Given the description of an element on the screen output the (x, y) to click on. 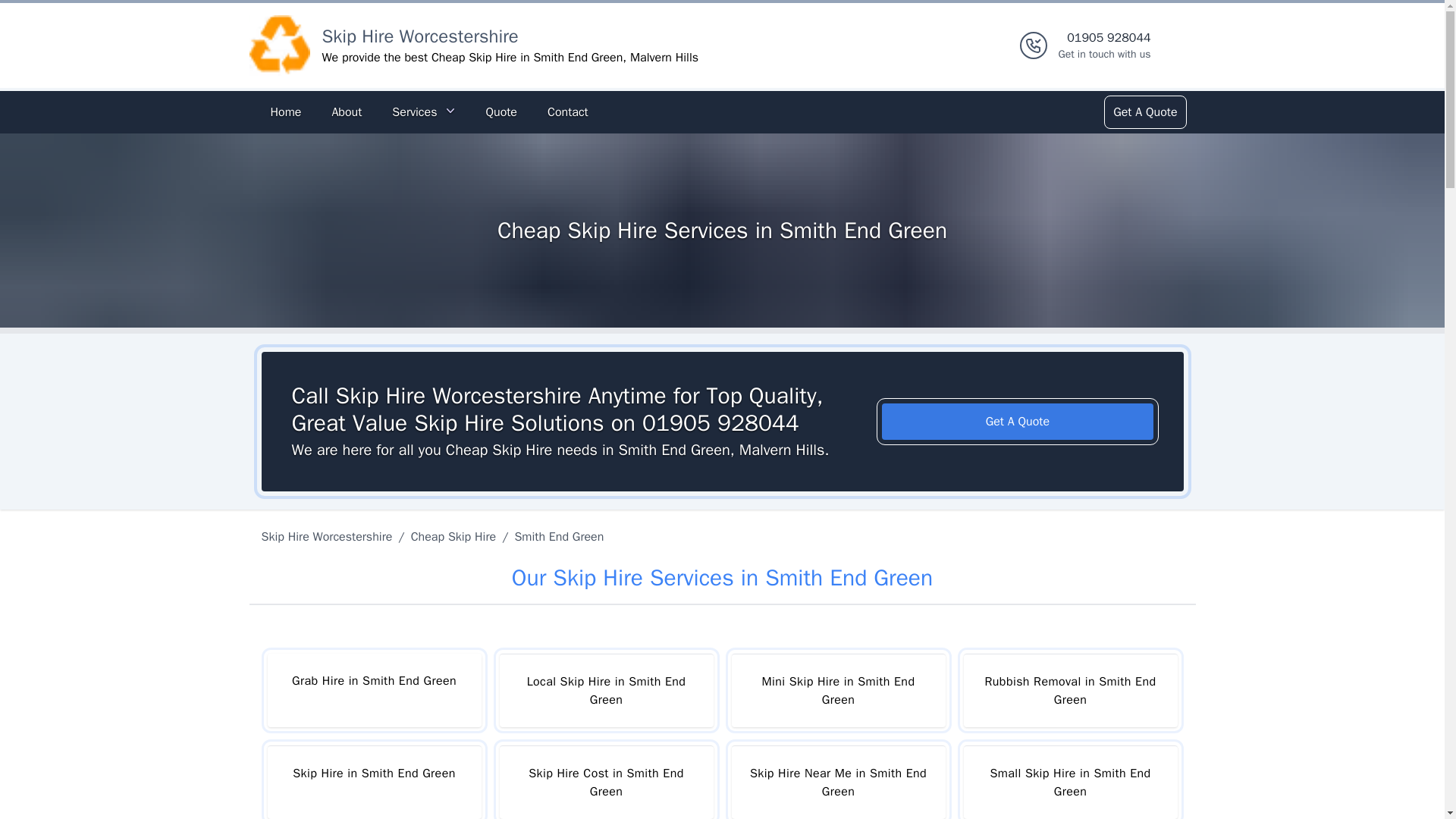
Mini Skip Hire in Smith End Green (837, 690)
Home (285, 112)
Cheap Skip Hire (453, 536)
Logo (278, 45)
Get A Quote (1017, 421)
Quote (500, 112)
Skip Hire Near Me in Smith End Green (837, 782)
Services (423, 112)
Contact (567, 112)
Skip Hire in Smith End Green (373, 782)
Get A Quote (1144, 112)
Skip Hire Worcestershire (328, 536)
Skip Hire Worcestershire (419, 36)
Rubbish Removal in Smith End Green (1069, 690)
About (346, 112)
